Given the description of an element on the screen output the (x, y) to click on. 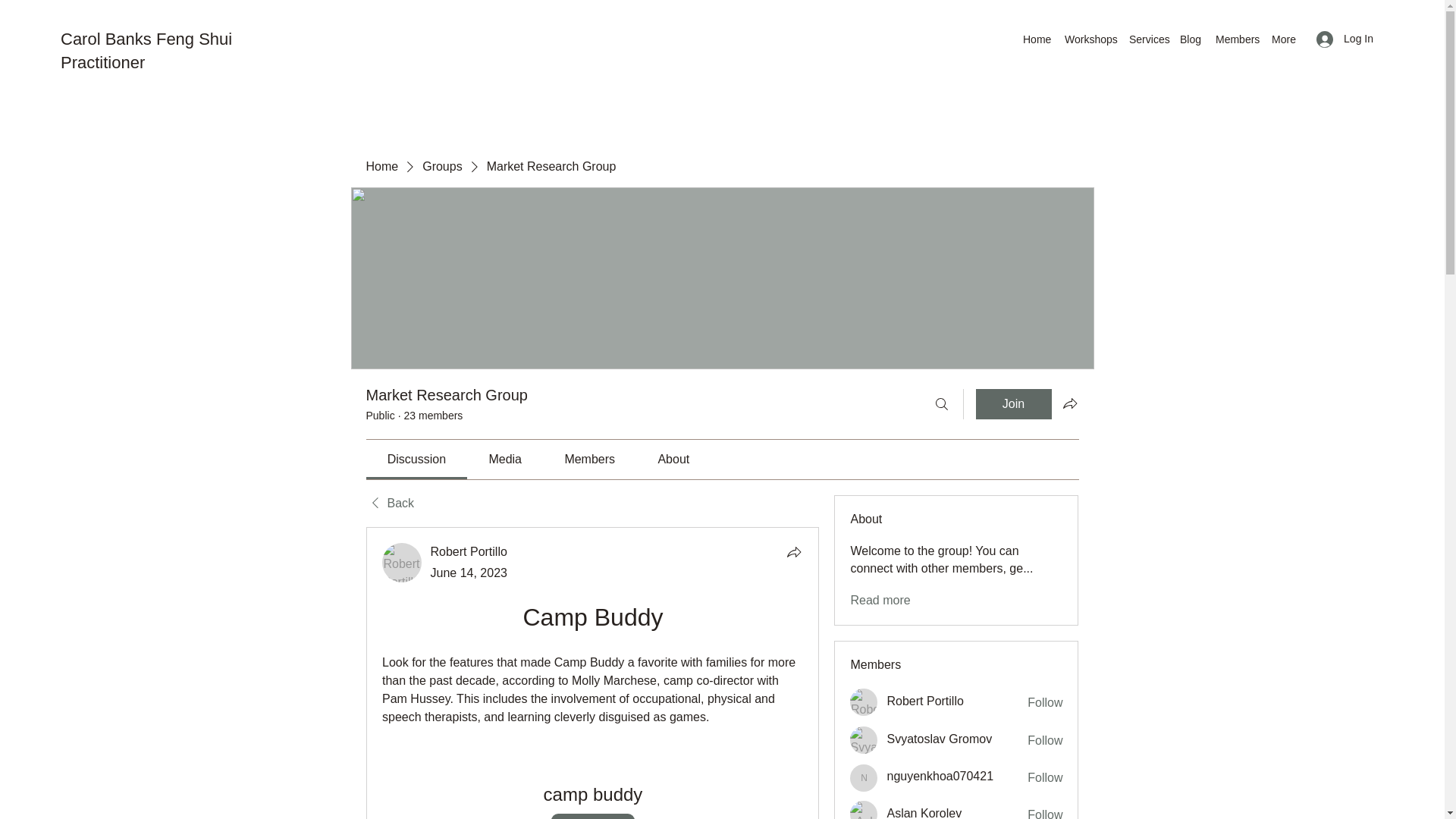
Download Zip (592, 816)
Robert Portillo (863, 701)
Home (1035, 38)
Read more (880, 600)
Home (381, 166)
June 14, 2023 (468, 572)
Svyatoslav Gromov (863, 739)
nguyenkhoa070421 (939, 776)
Follow (1044, 702)
Groups (441, 166)
